Given the description of an element on the screen output the (x, y) to click on. 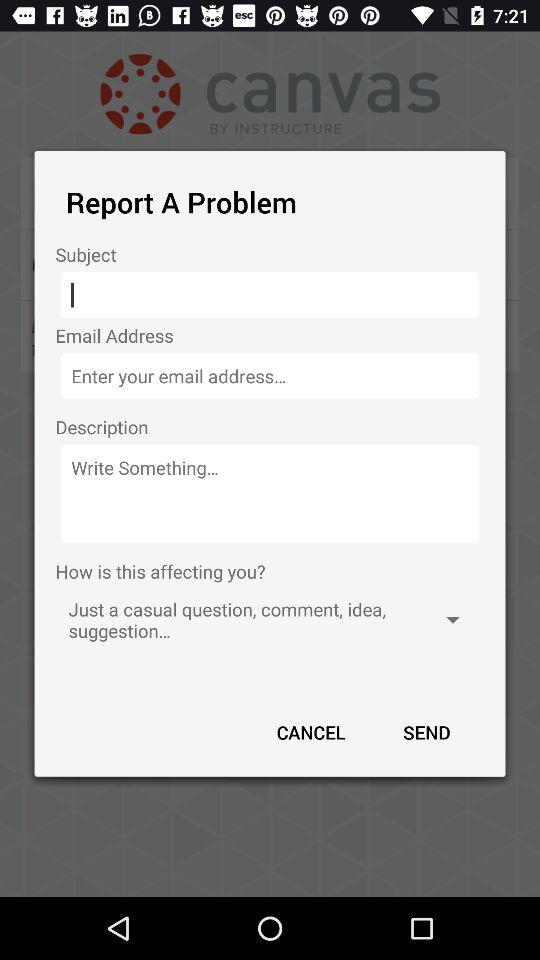
turn on button at the bottom right corner (426, 732)
